Given the description of an element on the screen output the (x, y) to click on. 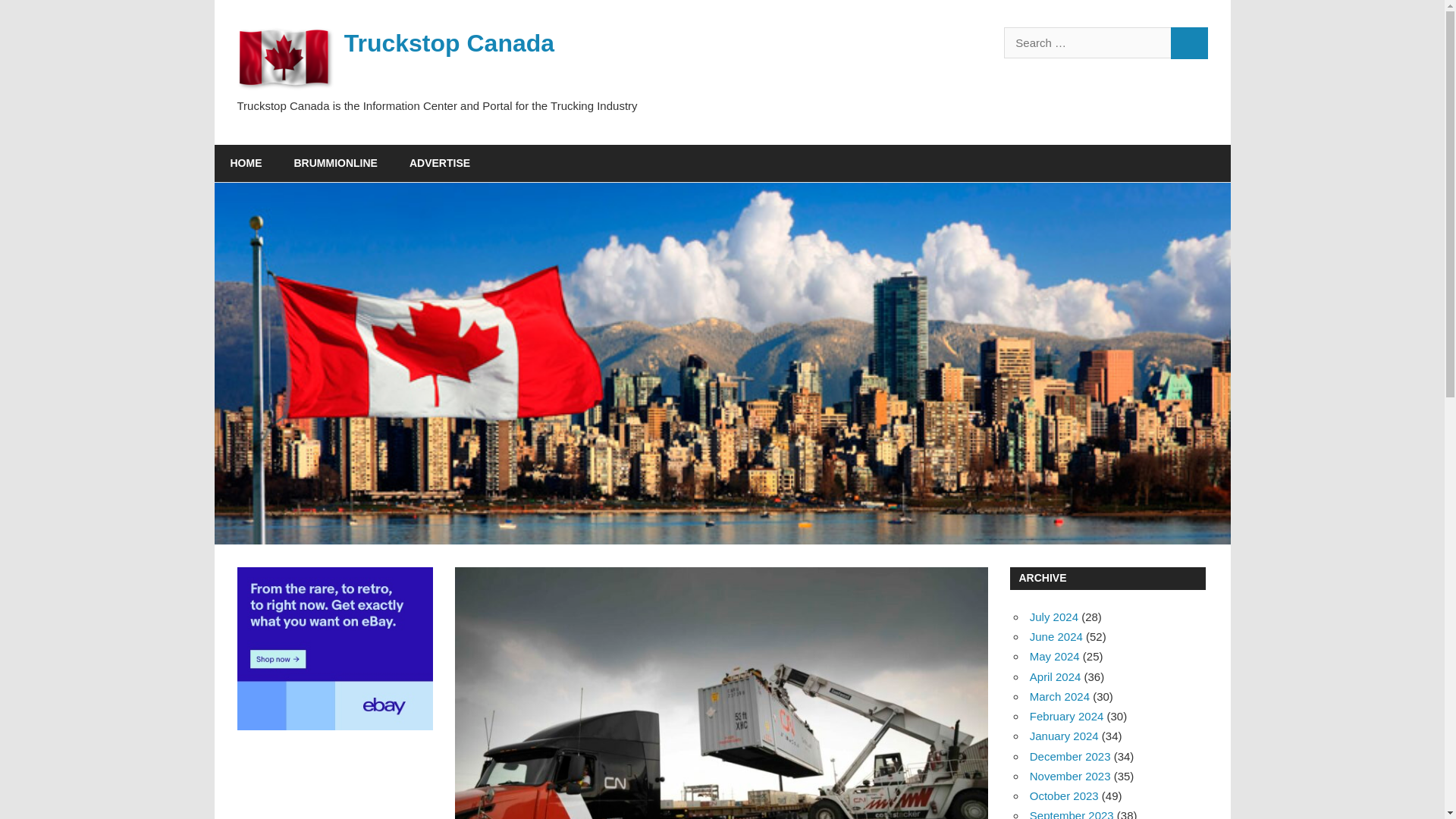
September 2023 (1071, 814)
December 2023 (1069, 756)
November 2023 (1069, 775)
July 2024 (1053, 616)
February 2024 (1066, 716)
ADVERTISE (439, 163)
March 2024 (1059, 696)
June 2024 (1056, 635)
BRUMMIONLINE (335, 163)
SEARCH (1189, 42)
HOME (246, 163)
April 2024 (1055, 676)
Search for: (1088, 42)
October 2023 (1064, 795)
